Given the description of an element on the screen output the (x, y) to click on. 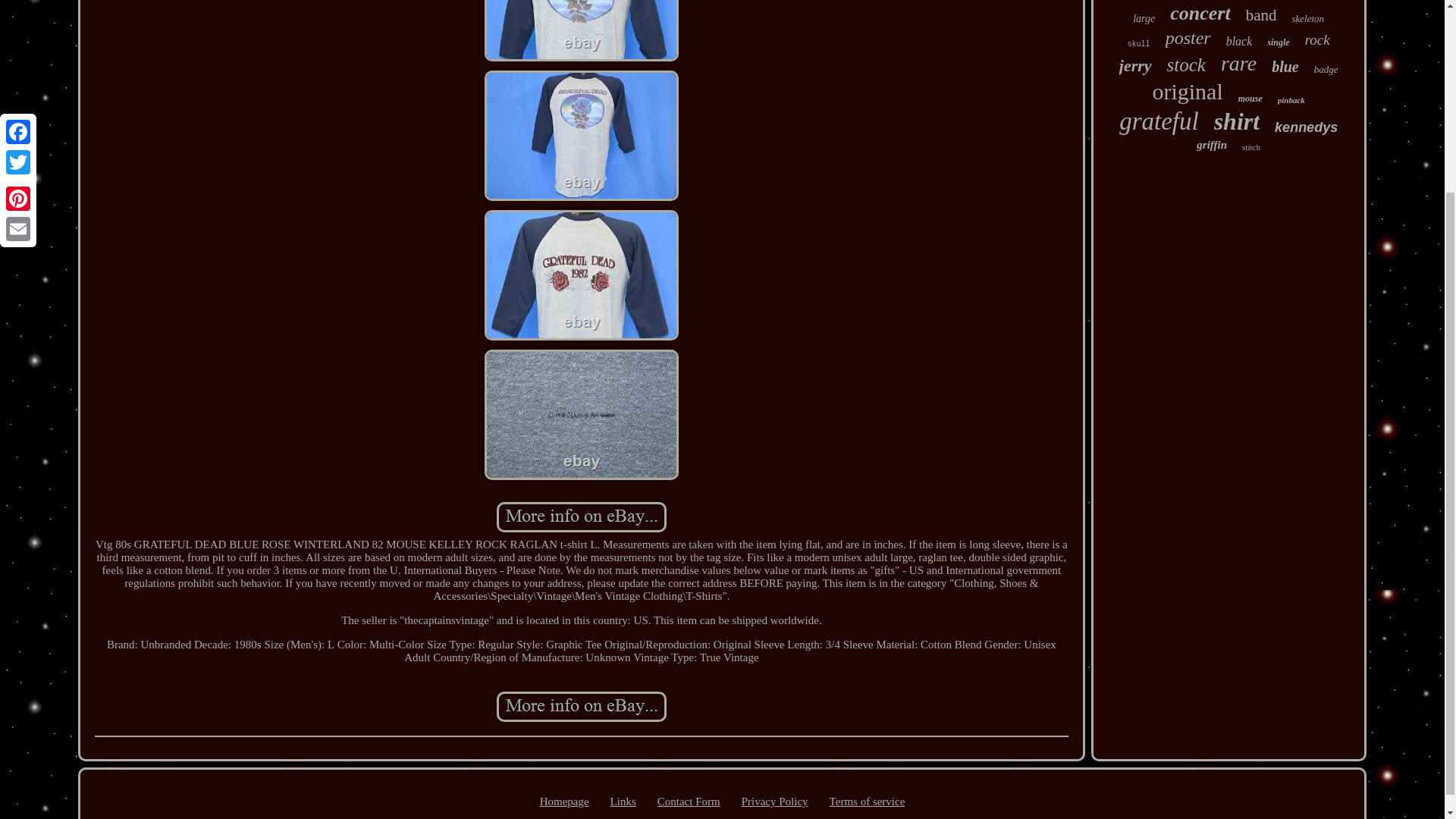
badge (1326, 69)
rare (1238, 63)
skull (1138, 44)
original (1187, 91)
skeleton (1308, 19)
concert (1200, 13)
poster (1188, 37)
single (1277, 42)
rock (1317, 39)
band (1261, 15)
